Given the description of an element on the screen output the (x, y) to click on. 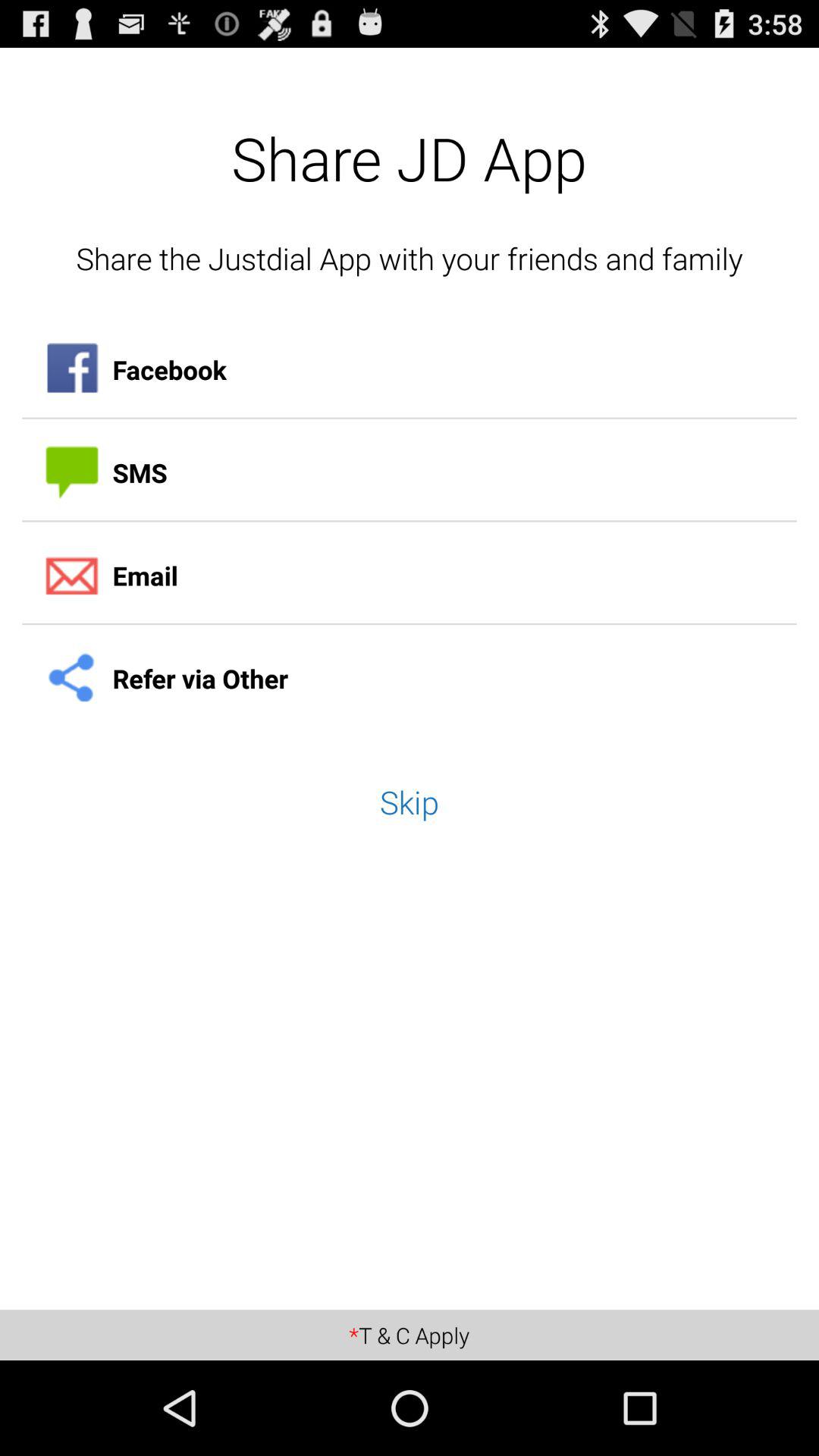
turn off the email (409, 575)
